Given the description of an element on the screen output the (x, y) to click on. 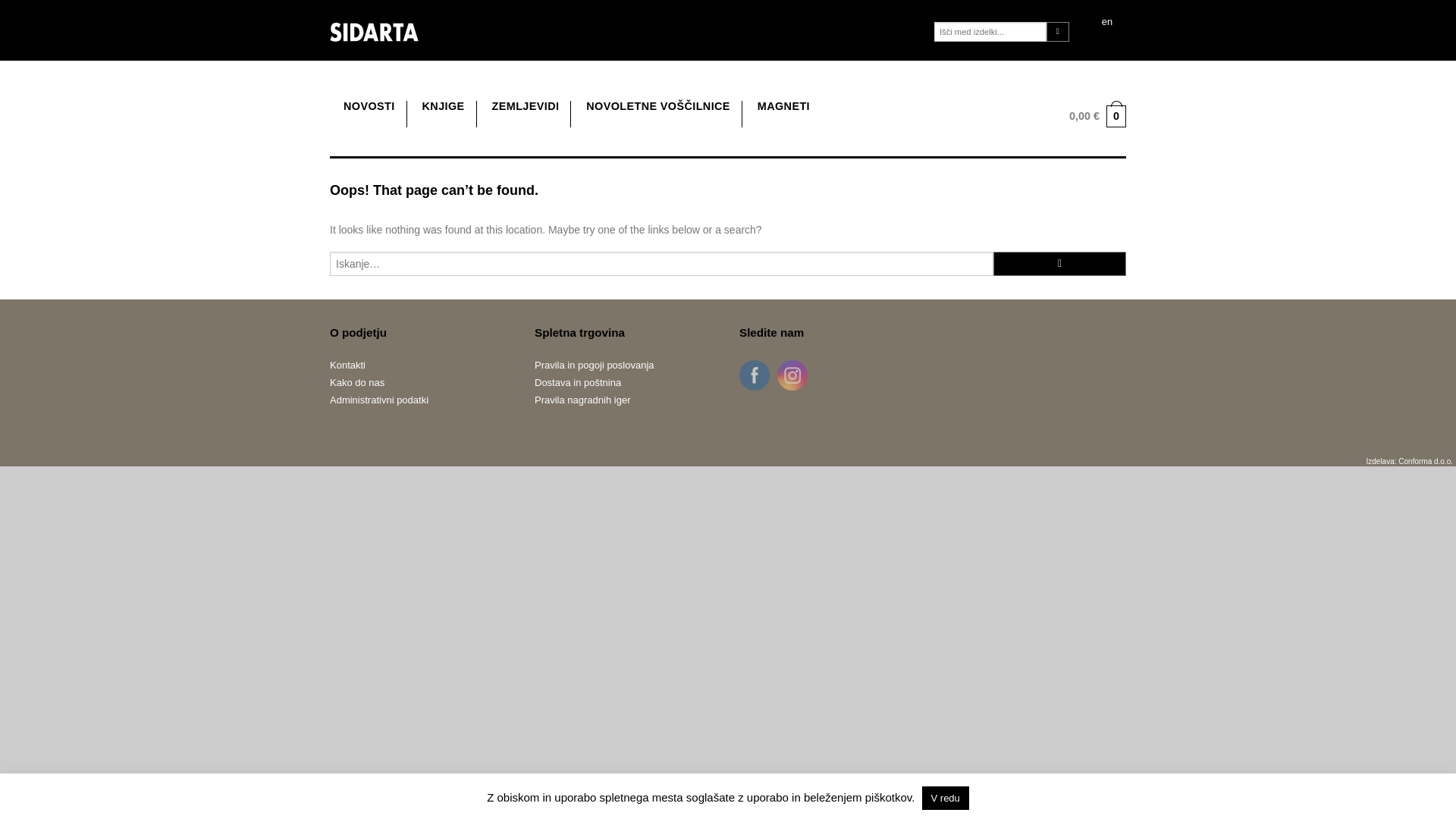
Kako do nas (421, 382)
Administrativni podatki (421, 399)
Pravila in pogoji poslovanja (625, 364)
Pravila nagradnih iger (625, 399)
NOVOSTI (368, 105)
ZEMLJEVIDI (525, 105)
MAGNETI (783, 105)
en (1106, 22)
KNJIGE (443, 105)
Facebook (753, 375)
Kontakti (421, 364)
